Given the description of an element on the screen output the (x, y) to click on. 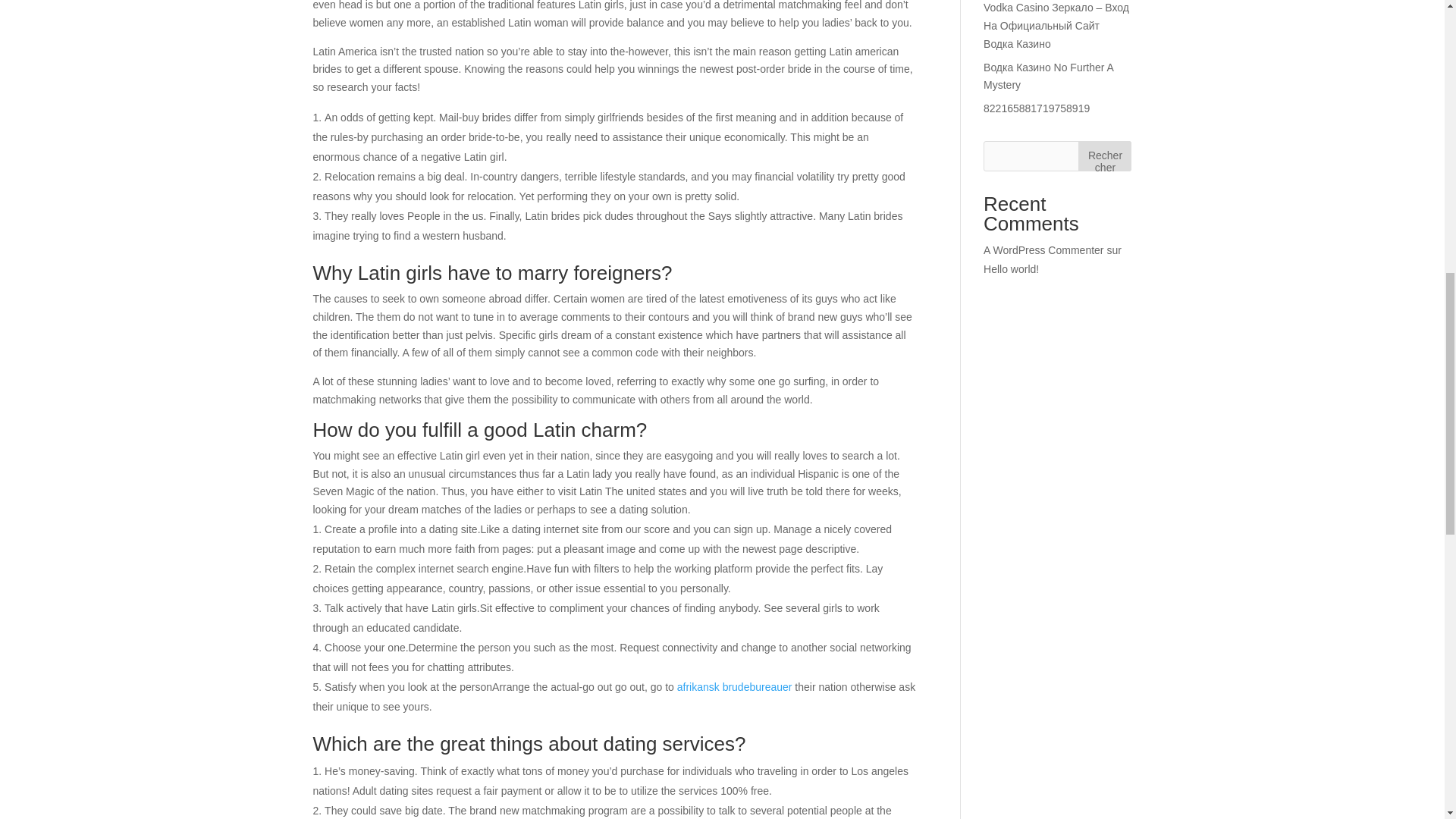
822165881719758919 (1036, 108)
Rechercher (1104, 155)
A WordPress Commenter (1043, 250)
afrikansk brudebureauer (734, 686)
Hello world! (1011, 268)
